Given the description of an element on the screen output the (x, y) to click on. 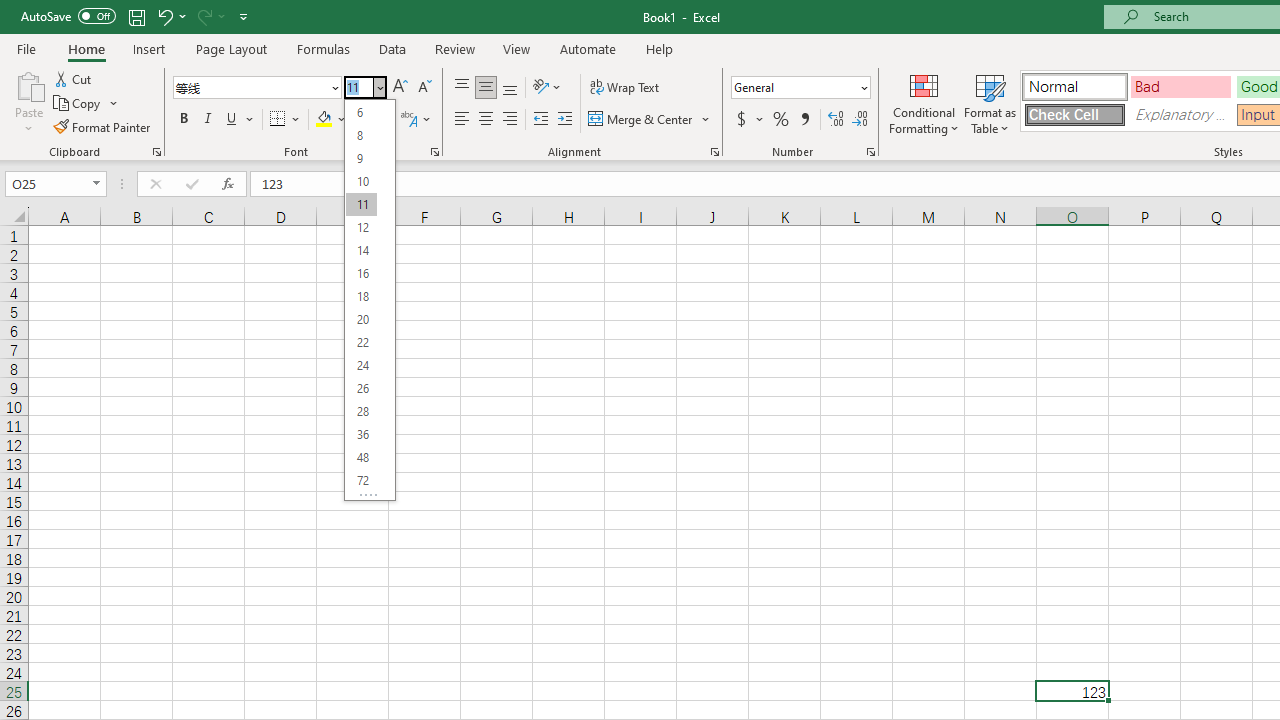
Font Color (370, 119)
Underline (232, 119)
Italic (207, 119)
Bottom Align (509, 87)
Borders (285, 119)
